Given the description of an element on the screen output the (x, y) to click on. 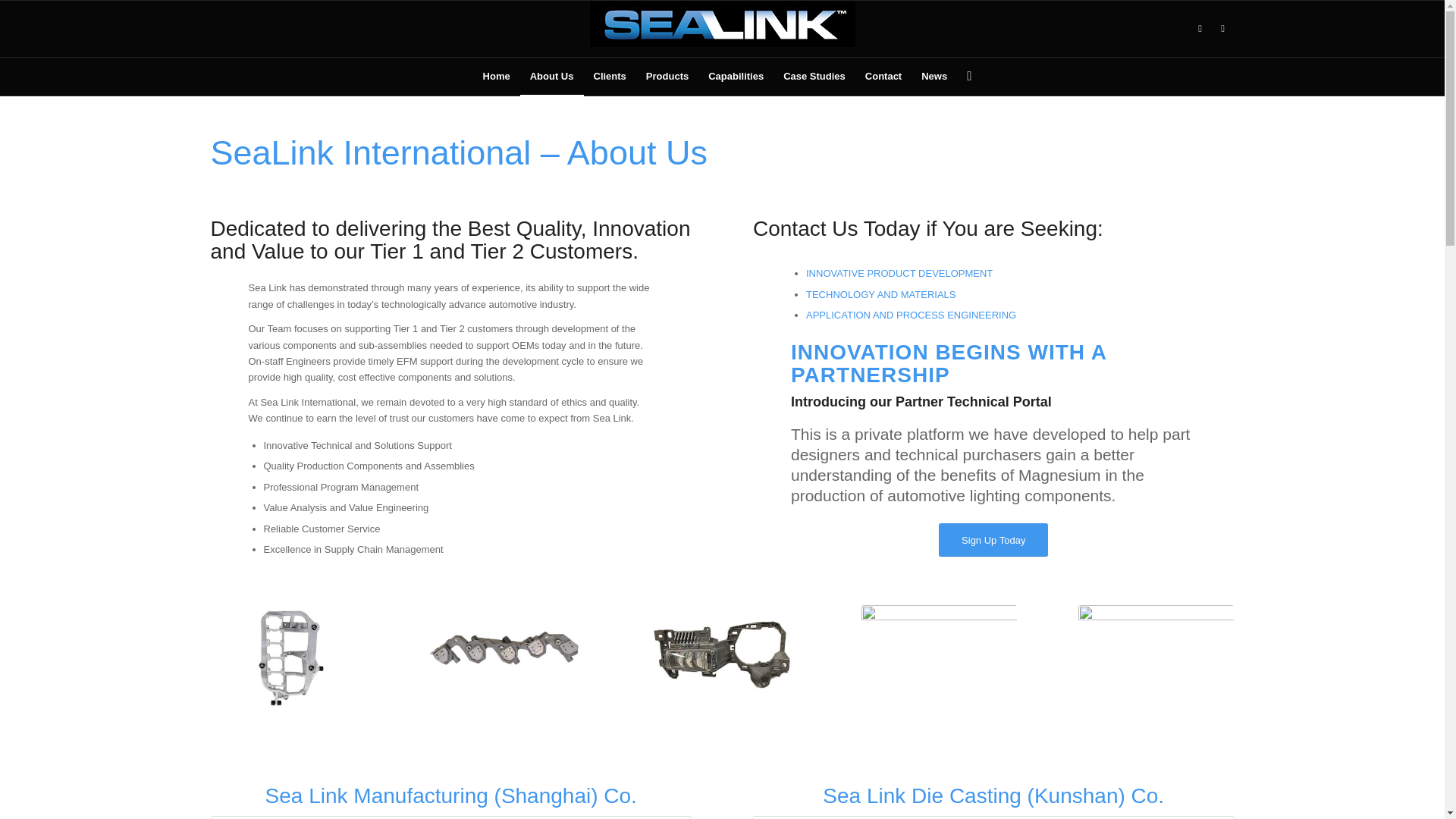
Capabilities (735, 76)
Products (667, 76)
About Us (551, 76)
Clients (609, 76)
featured-product-5 (288, 657)
Contact (883, 76)
featured-product-1 (722, 657)
featured-product-3 (938, 657)
Case Studies (814, 76)
Sign Up Today (993, 540)
APPLICATION AND PROCESS ENGINEERING (911, 315)
featured-product-2 (1155, 657)
featured-product9 (505, 657)
News (933, 76)
Home (496, 76)
